Given the description of an element on the screen output the (x, y) to click on. 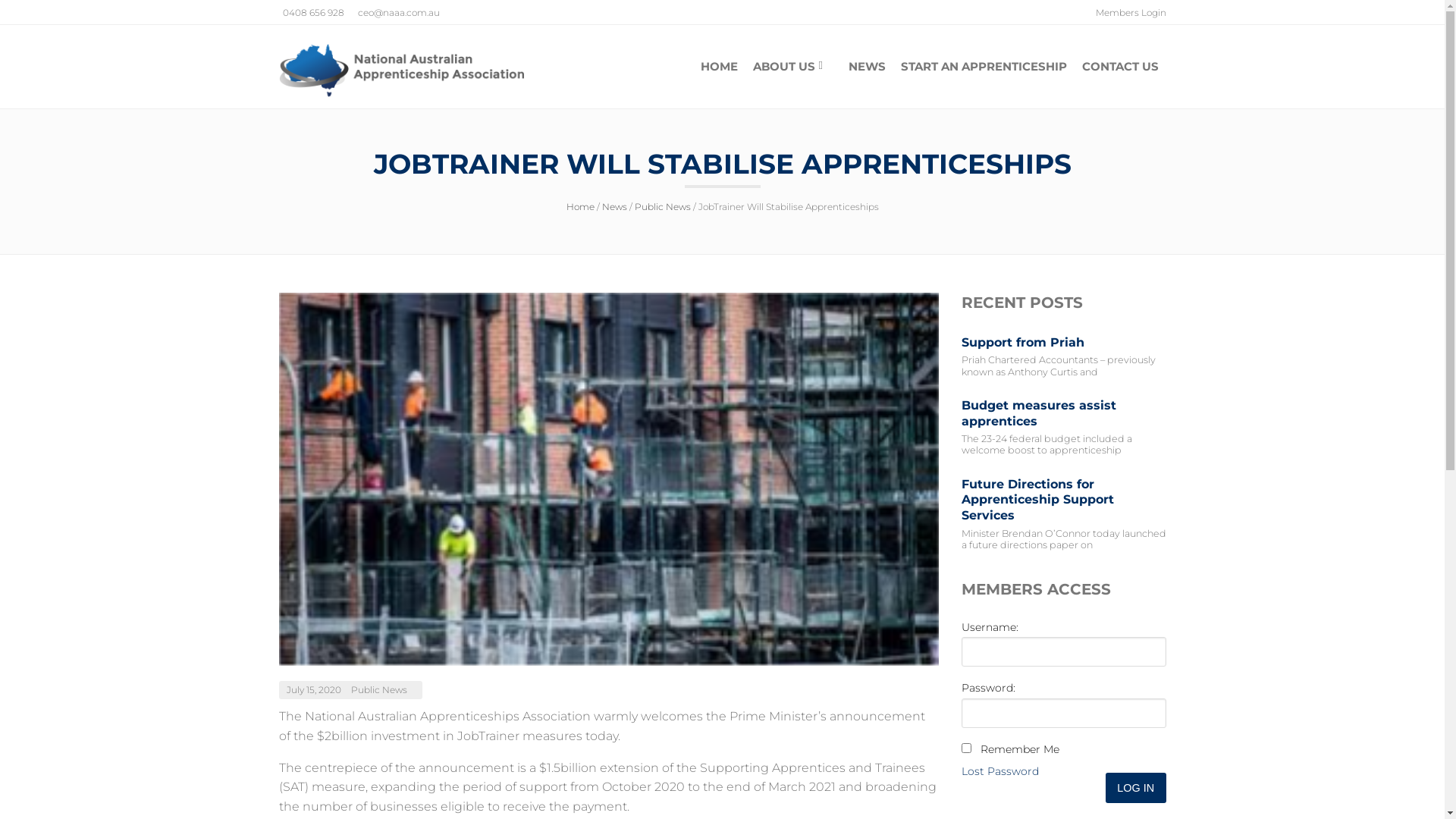
Members Login Element type: text (1125, 12)
JobTrainer will stabilise apprenticeships Element type: hover (608, 478)
Lost Password Element type: text (999, 770)
Home Element type: text (579, 206)
Future Directions for Apprenticeship Support Services Element type: text (1063, 500)
NAAA Element type: hover (419, 70)
NEWS Element type: text (865, 66)
Budget measures assist apprentices Element type: text (1063, 413)
ABOUT US Element type: text (792, 66)
July 15, 2020 Element type: text (314, 689)
CONTACT US Element type: text (1119, 66)
Support from Priah Element type: text (1063, 342)
HOME Element type: text (718, 66)
News Element type: text (614, 206)
Public News Element type: text (378, 689)
Public News Element type: text (661, 206)
ceo@naaa.com.au Element type: text (393, 12)
START AN APPRENTICESHIP Element type: text (983, 66)
LOG IN Element type: text (1135, 787)
